Given the description of an element on the screen output the (x, y) to click on. 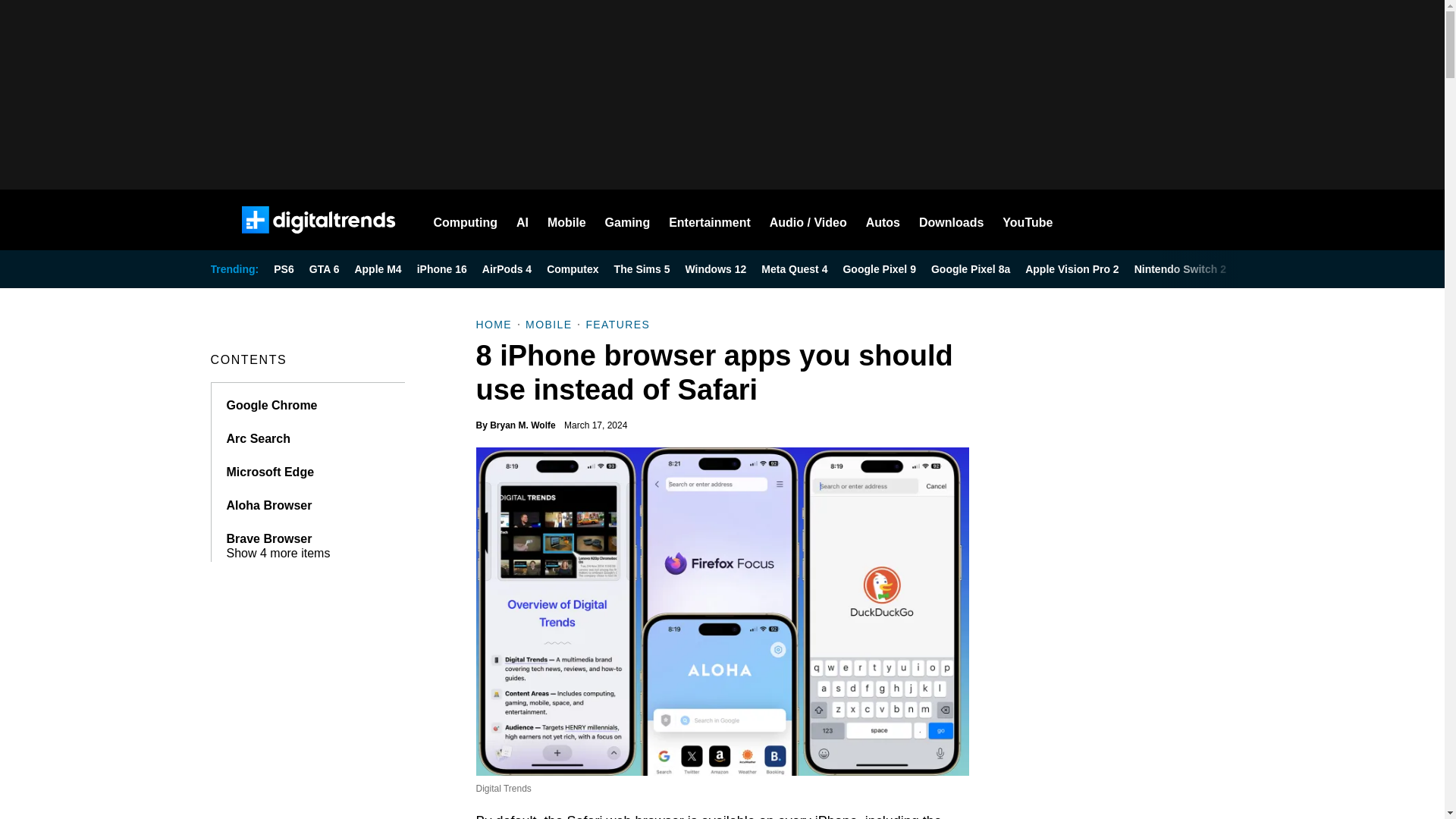
Computing (465, 219)
Downloads (951, 219)
Entertainment (709, 219)
